Given the description of an element on the screen output the (x, y) to click on. 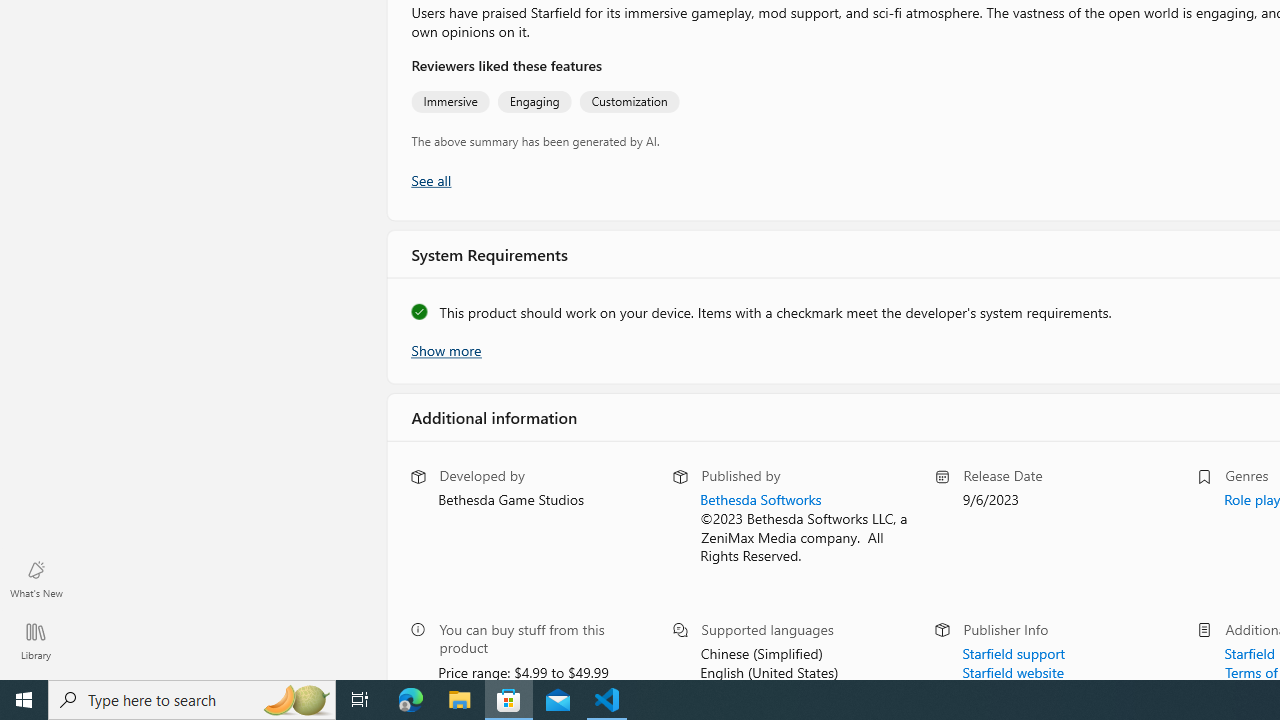
Bethesda Softworks (760, 499)
Starfield support (1012, 651)
Show all ratings and reviews (430, 179)
Show more (445, 348)
Starfield website (1012, 669)
